Given the description of an element on the screen output the (x, y) to click on. 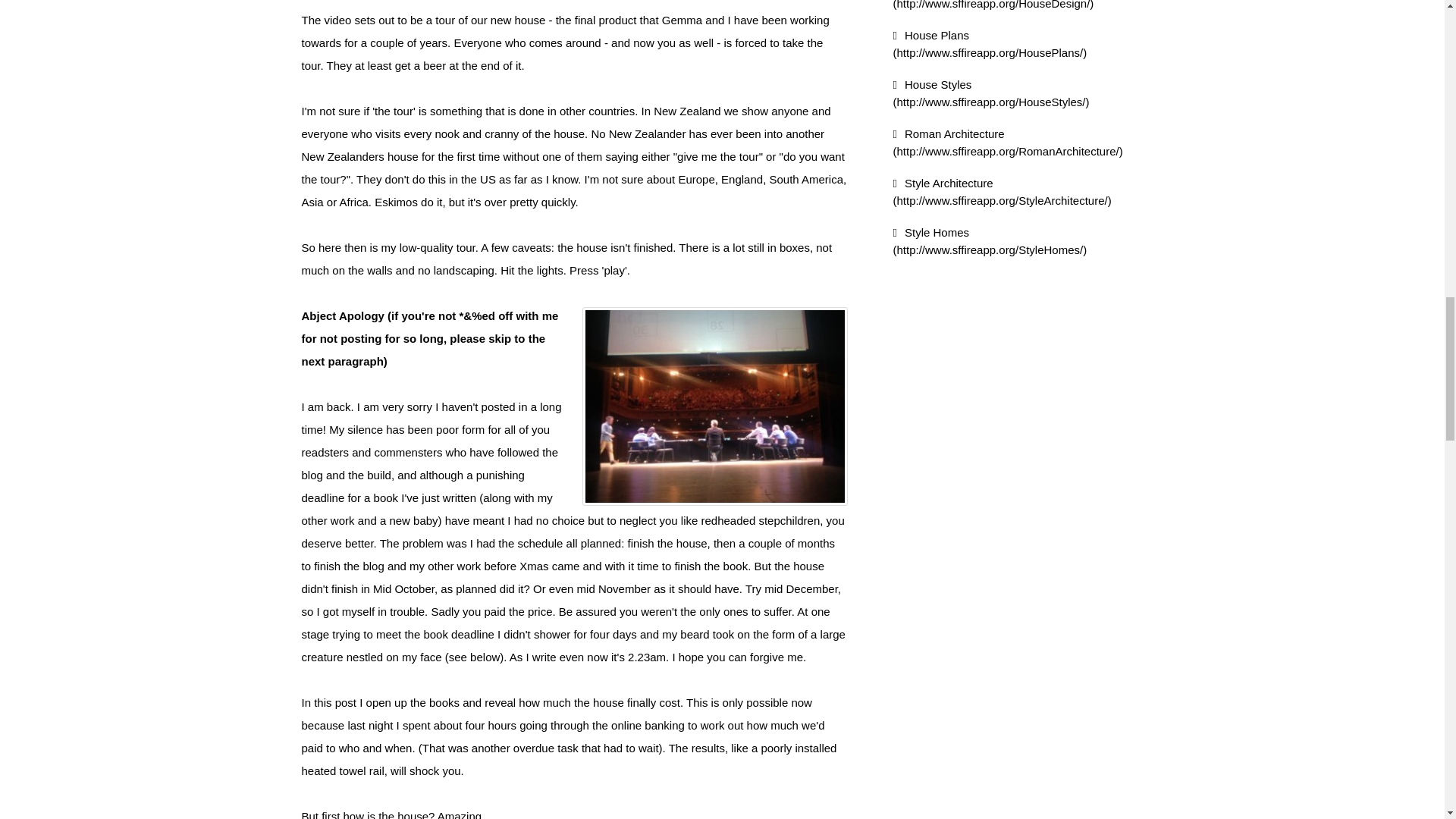
View all posts filed under House Plans (990, 43)
View all posts filed under House Design (993, 4)
View all posts filed under House Styles (991, 92)
